Given the description of an element on the screen output the (x, y) to click on. 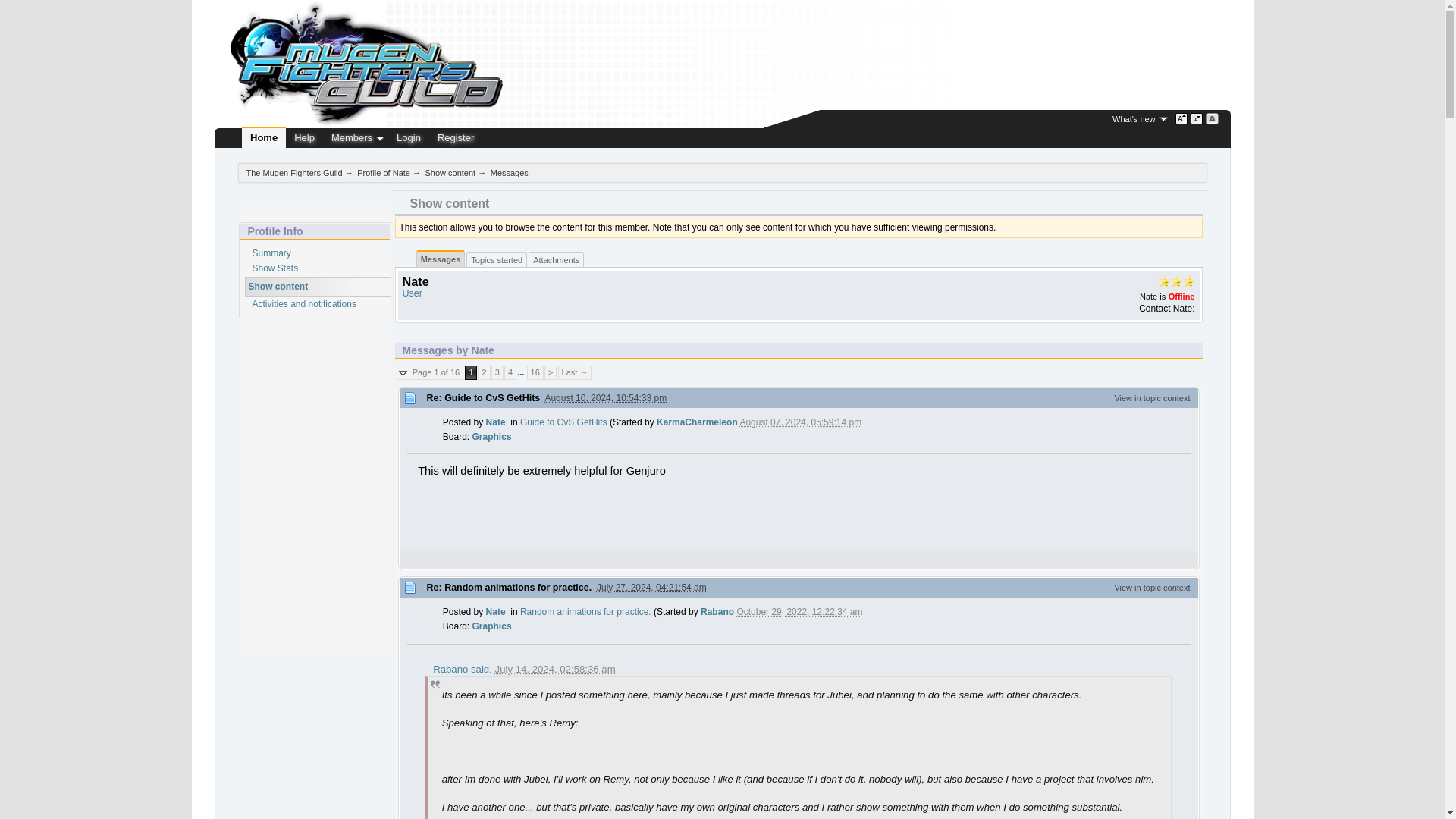
Activities and notifications (303, 303)
Messages (440, 261)
Show content (278, 286)
Nate (495, 611)
Messages (509, 172)
Help (304, 137)
User (411, 293)
Show Stats (274, 267)
Click to enter page number (429, 372)
View in topic context (1151, 397)
